Given the description of an element on the screen output the (x, y) to click on. 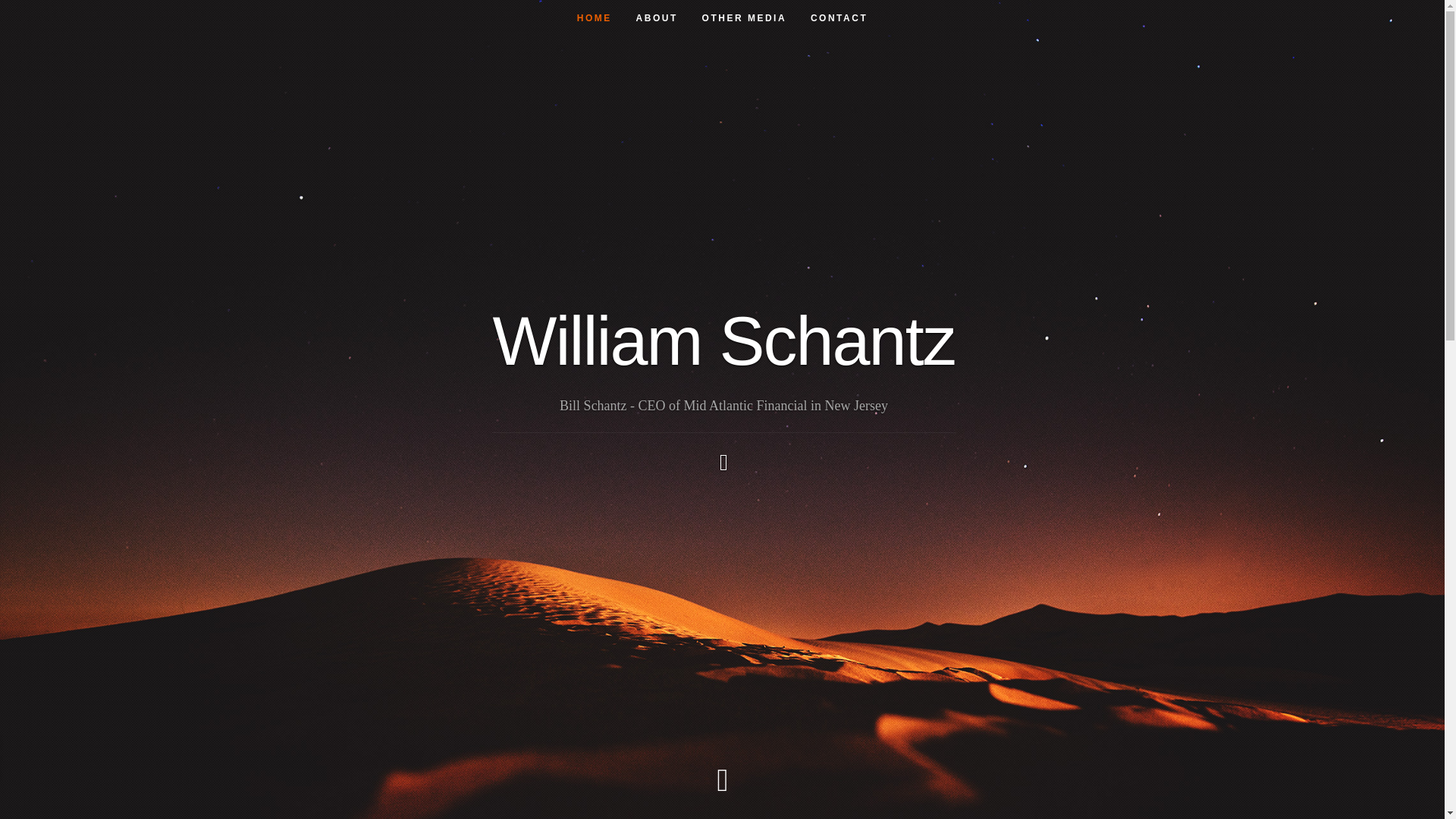
ABOUT (656, 18)
CONTACT (838, 18)
OTHER MEDIA (744, 18)
HOME (594, 18)
CONTACT (838, 18)
HOME (594, 18)
OTHER MEDIA (744, 18)
ABOUT (656, 18)
